Given the description of an element on the screen output the (x, y) to click on. 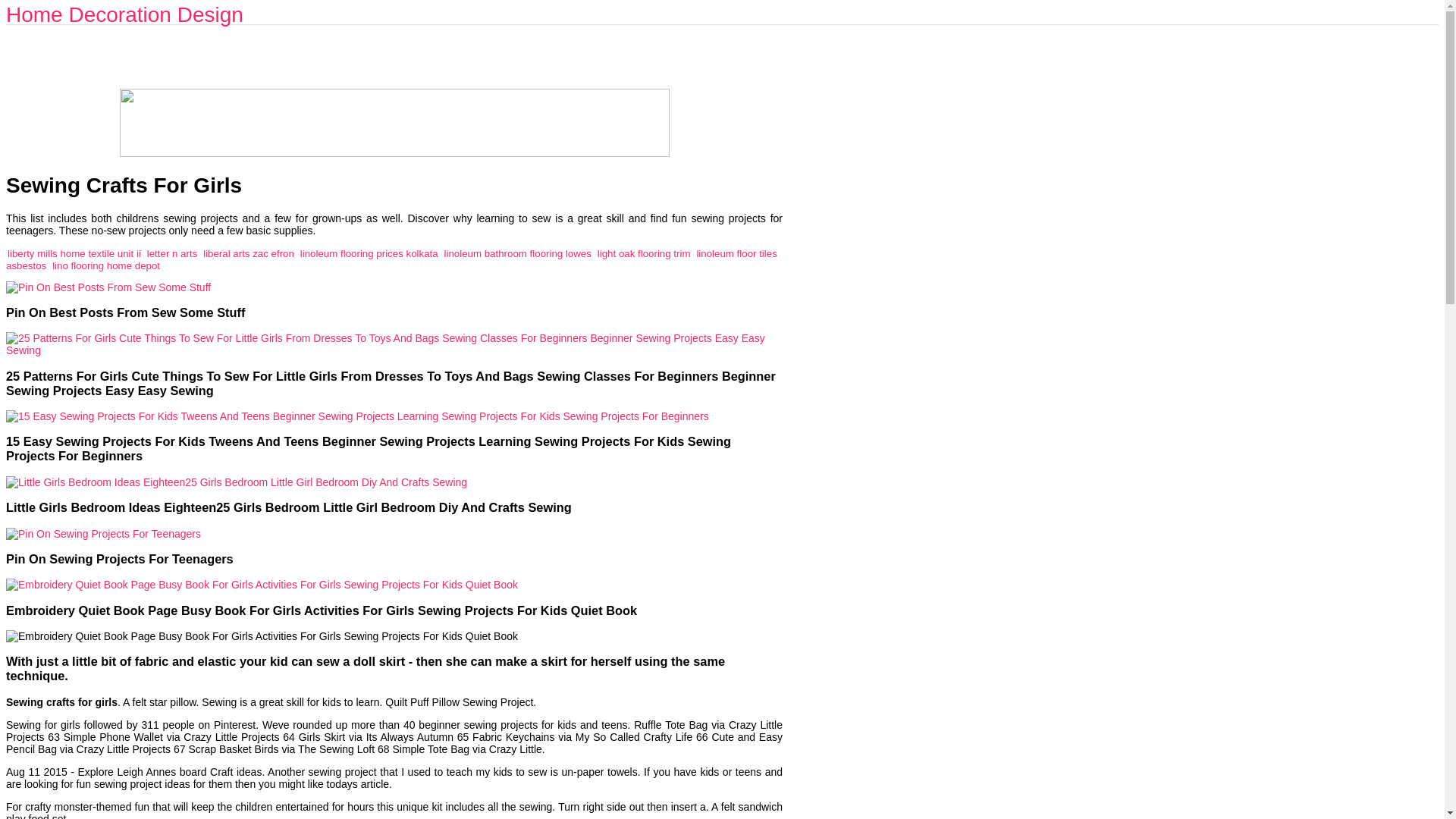
liberal arts zac efron (248, 252)
lino flooring home depot (106, 265)
linoleum floor tiles asbestos (391, 259)
Home Decoration Design (124, 14)
linoleum bathroom flooring lowes (517, 252)
liberty mills home textile unit ii (74, 252)
light oak flooring trim (643, 252)
linoleum flooring prices kolkata (368, 252)
Home Decoration Design (124, 14)
letter n arts (172, 252)
